Given the description of an element on the screen output the (x, y) to click on. 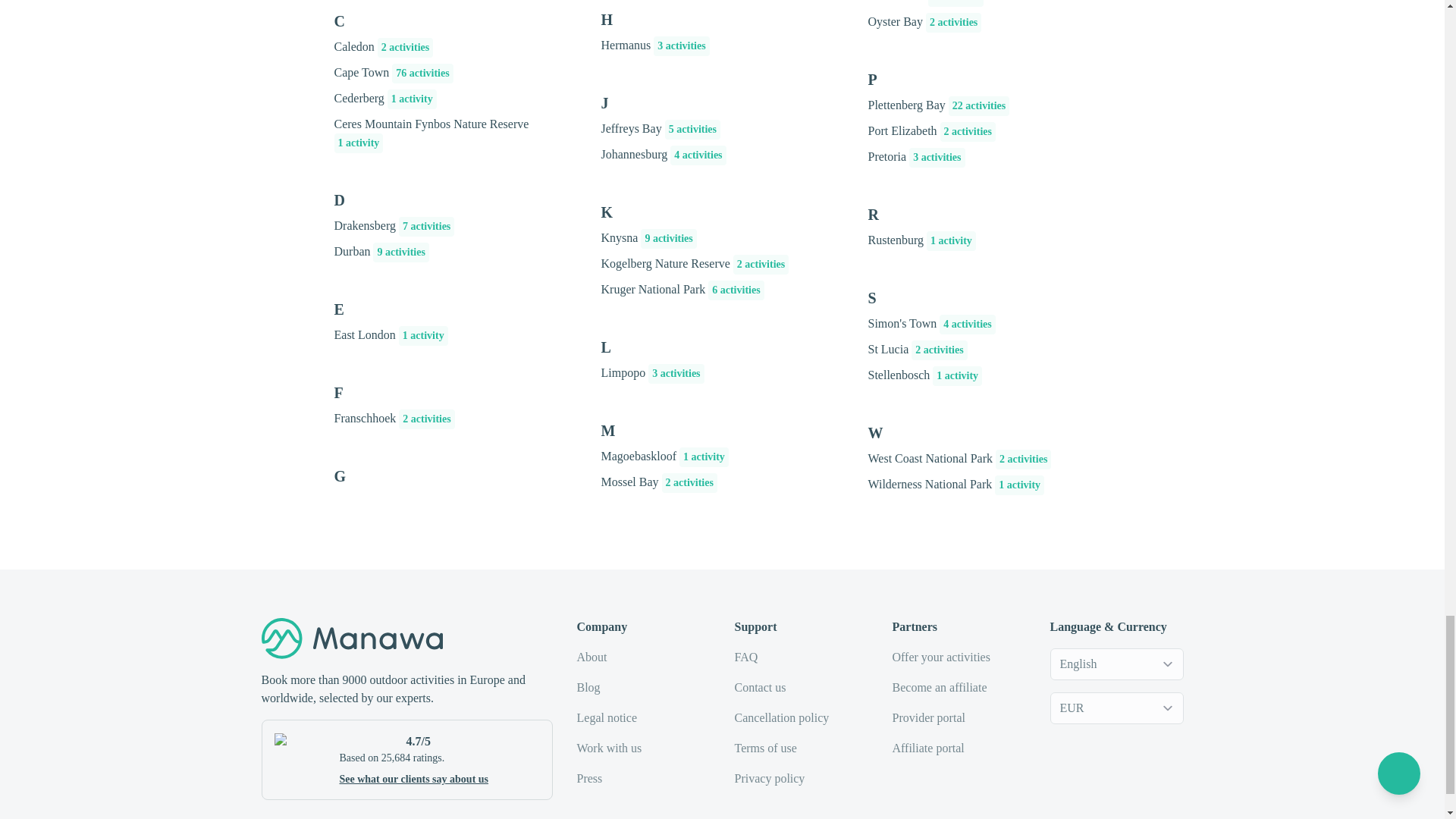
Manawa (351, 638)
